Given the description of an element on the screen output the (x, y) to click on. 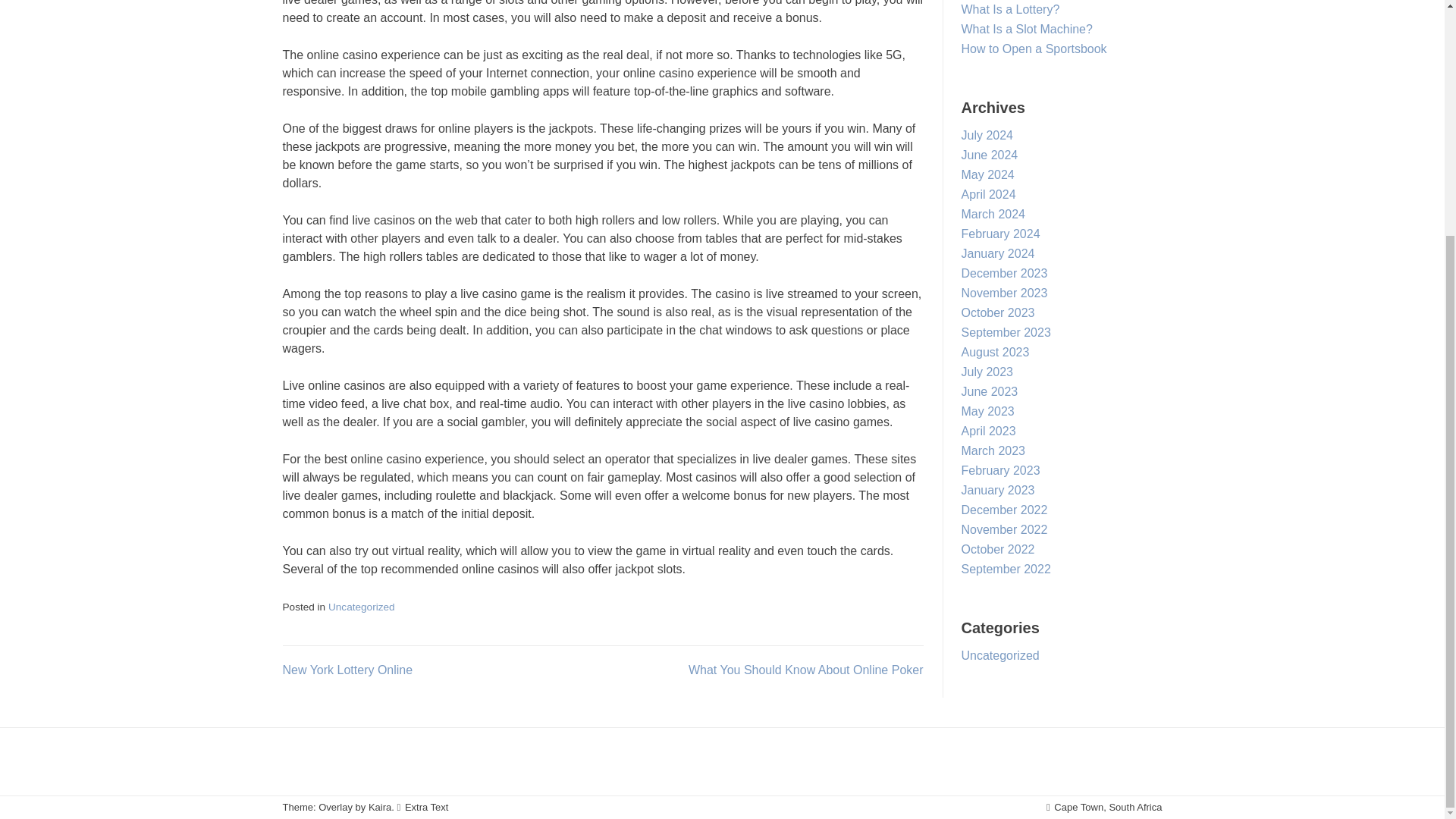
Uncategorized (361, 606)
November 2022 (1004, 529)
January 2024 (997, 253)
June 2023 (988, 391)
May 2024 (987, 174)
What Is a Slot Machine? (1026, 29)
December 2023 (1004, 273)
How to Open a Sportsbook (1033, 48)
What Is a Lottery? (1009, 9)
June 2024 (988, 154)
March 2024 (993, 214)
May 2023 (987, 410)
March 2023 (993, 450)
August 2023 (994, 351)
October 2023 (997, 312)
